Given the description of an element on the screen output the (x, y) to click on. 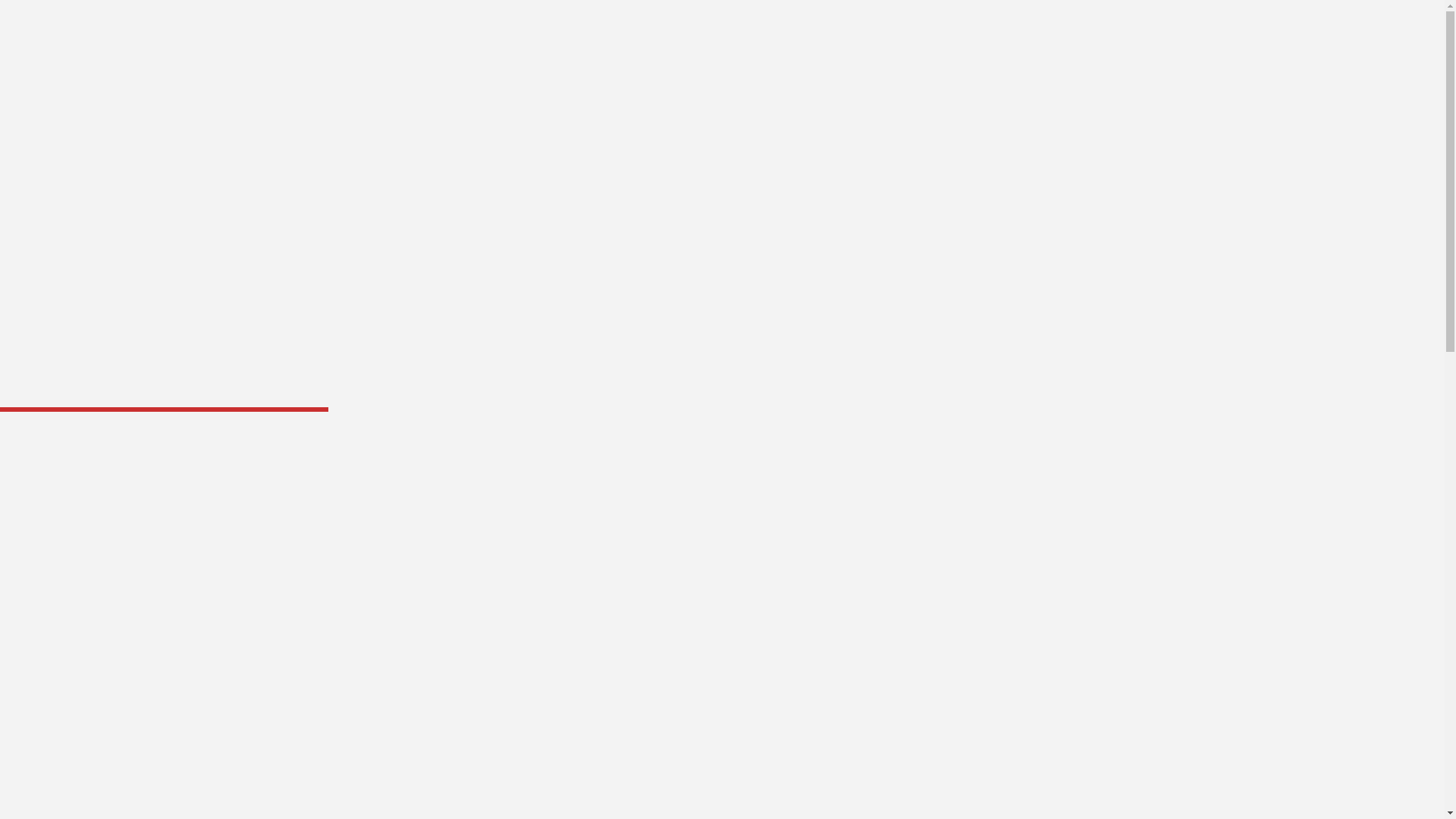
MINISTRIES Element type: text (30, 66)
PEW BULLETINS/HOMILIES Element type: text (70, 81)
Kids Club Element type: hover (144, 75)
Parish Picnic Element type: hover (144, 161)
ABOUT US Element type: text (27, 52)
All Saints Marburg Element type: text (784, 336)
HOME Element type: text (16, 38)
Hiddenvale Service Element type: hover (144, 118)
Ministries Element type: text (404, 394)
EVENTS Element type: text (19, 95)
Palm Sunday Walk Element type: hover (144, 89)
Christmas Story Element type: hover (144, 147)
Marburg Church Element type: hover (144, 132)
St Francis Day Element type: hover (144, 190)
